Given the description of an element on the screen output the (x, y) to click on. 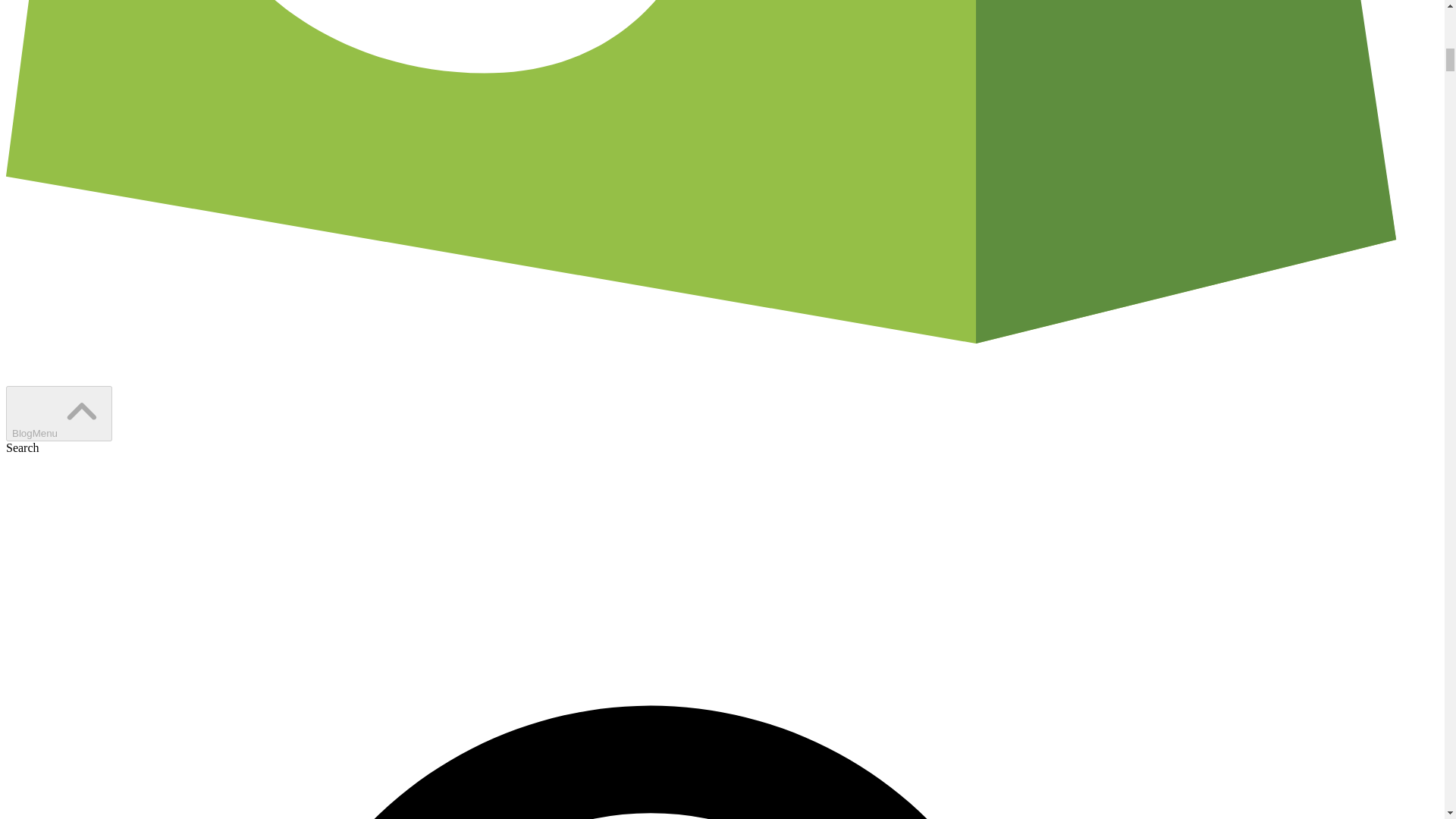
BlogMenu (58, 413)
